Given the description of an element on the screen output the (x, y) to click on. 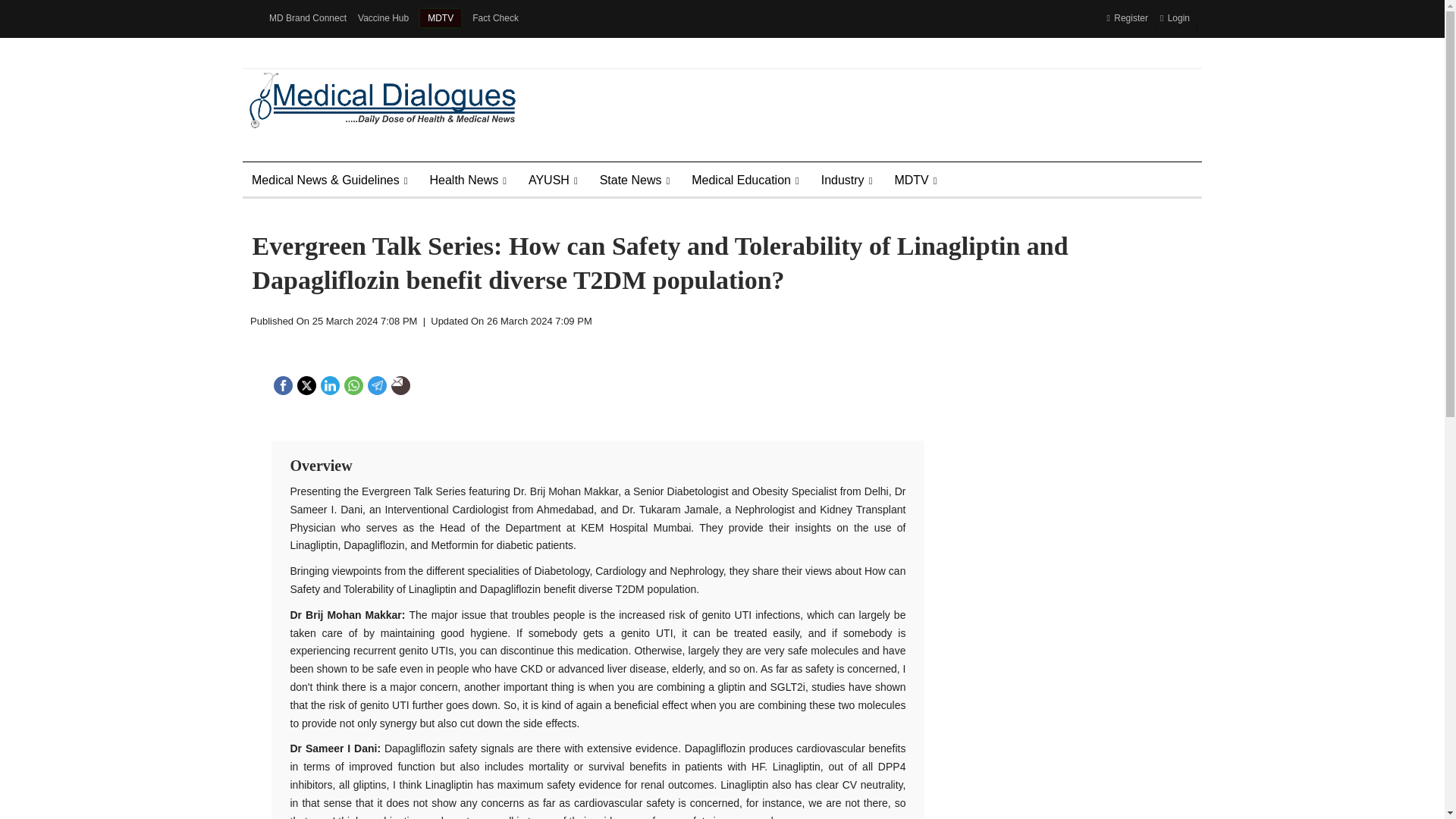
facebook (283, 385)
Vaccine Hub (383, 18)
Twitter (306, 383)
MDTV (440, 18)
Fact Check (494, 18)
Facebook (282, 383)
linkedin (330, 385)
whatsapp (352, 385)
Email (397, 381)
LinkedIn (329, 383)
